Given the description of an element on the screen output the (x, y) to click on. 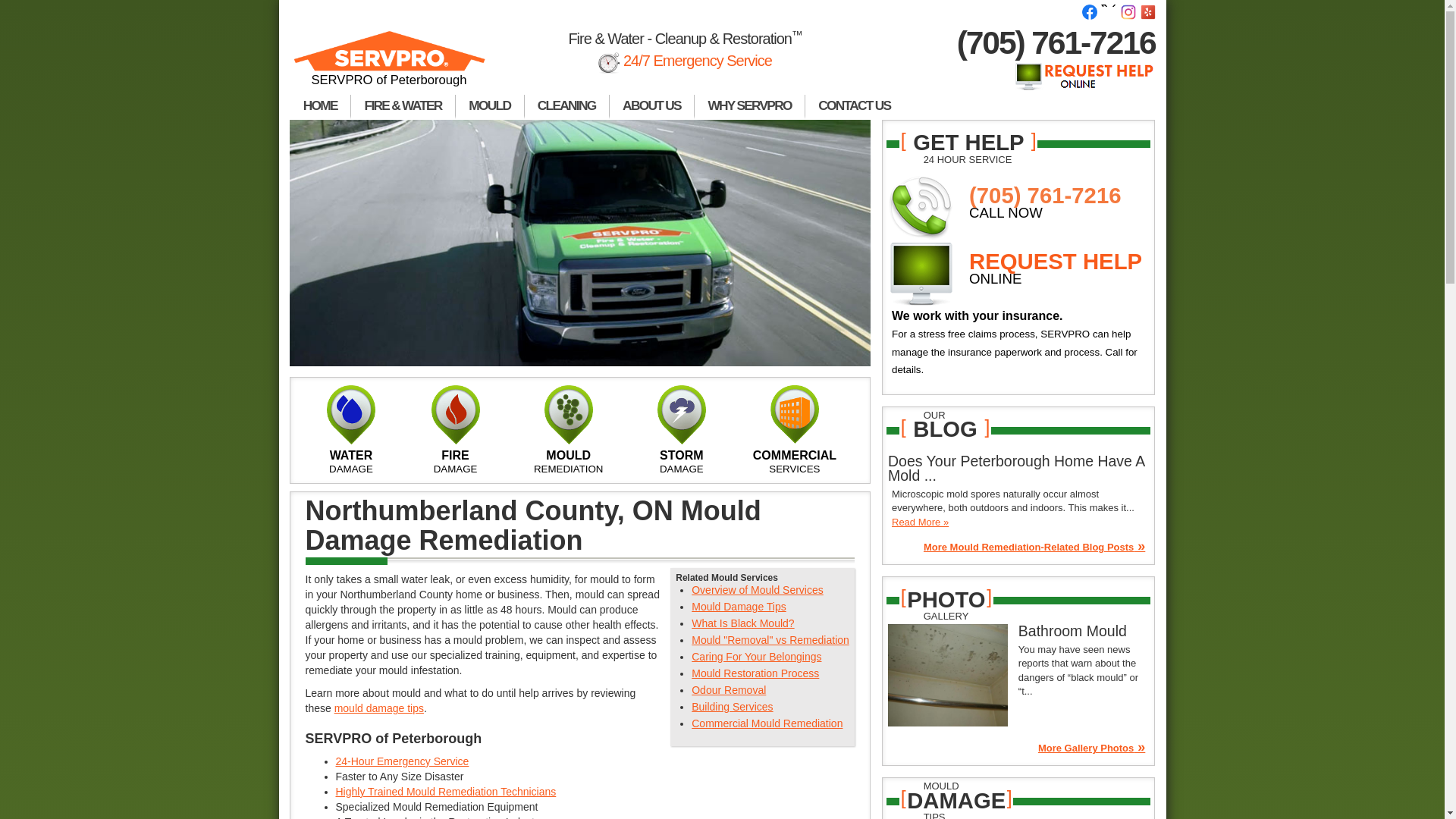
HOME (319, 106)
ABOUT US (652, 106)
SERVPRO of Peterborough (389, 64)
CLEANING (567, 106)
MOULD (489, 106)
